Given the description of an element on the screen output the (x, y) to click on. 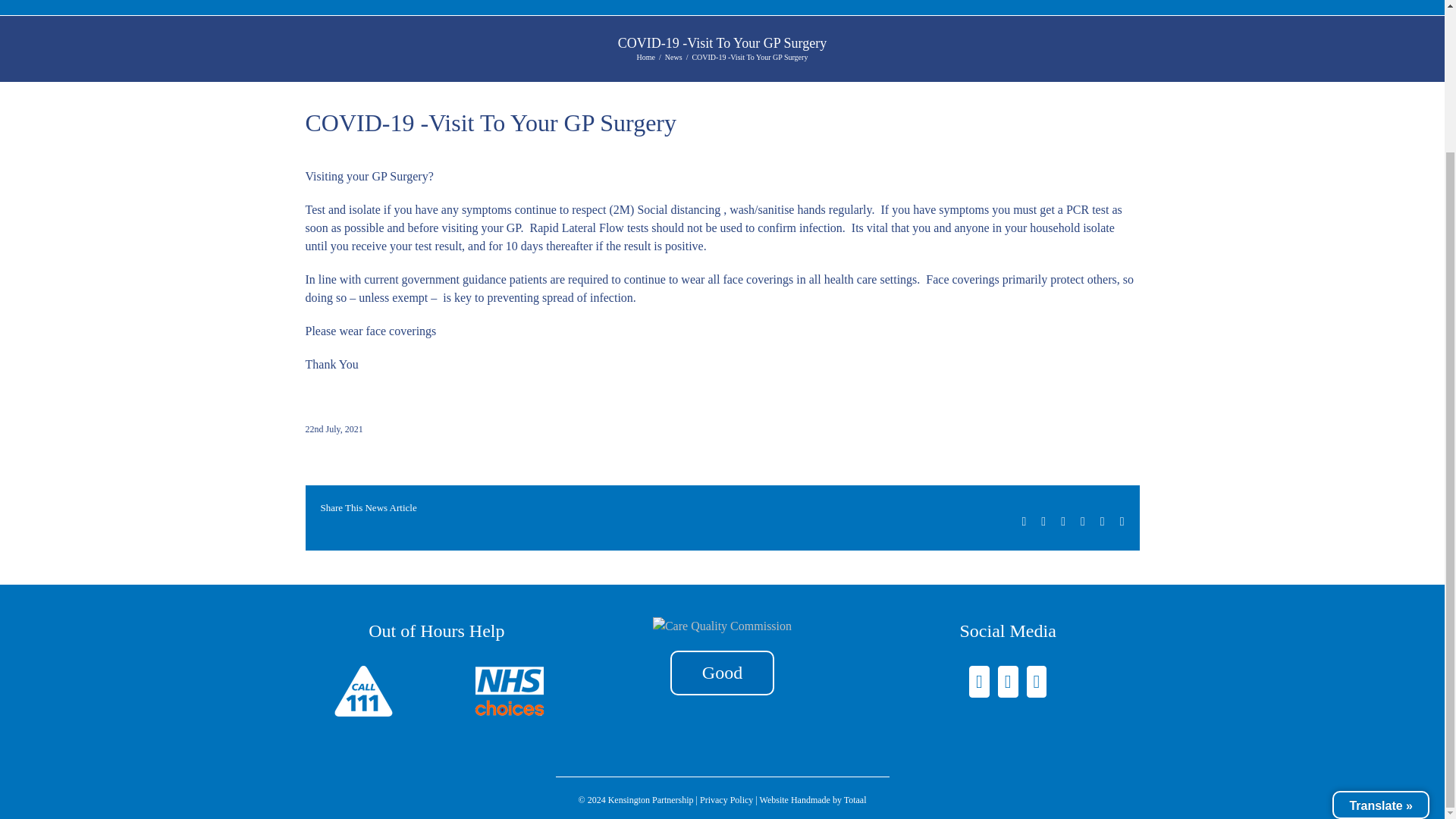
Good (721, 672)
Practice Policies (949, 7)
Totaal - Beautiful, Powerful Websites (855, 799)
NHS Choices (509, 690)
Prescriptions (608, 7)
Staff (847, 7)
Call 111 (363, 690)
Appointments (403, 7)
Opening (507, 7)
